Given the description of an element on the screen output the (x, y) to click on. 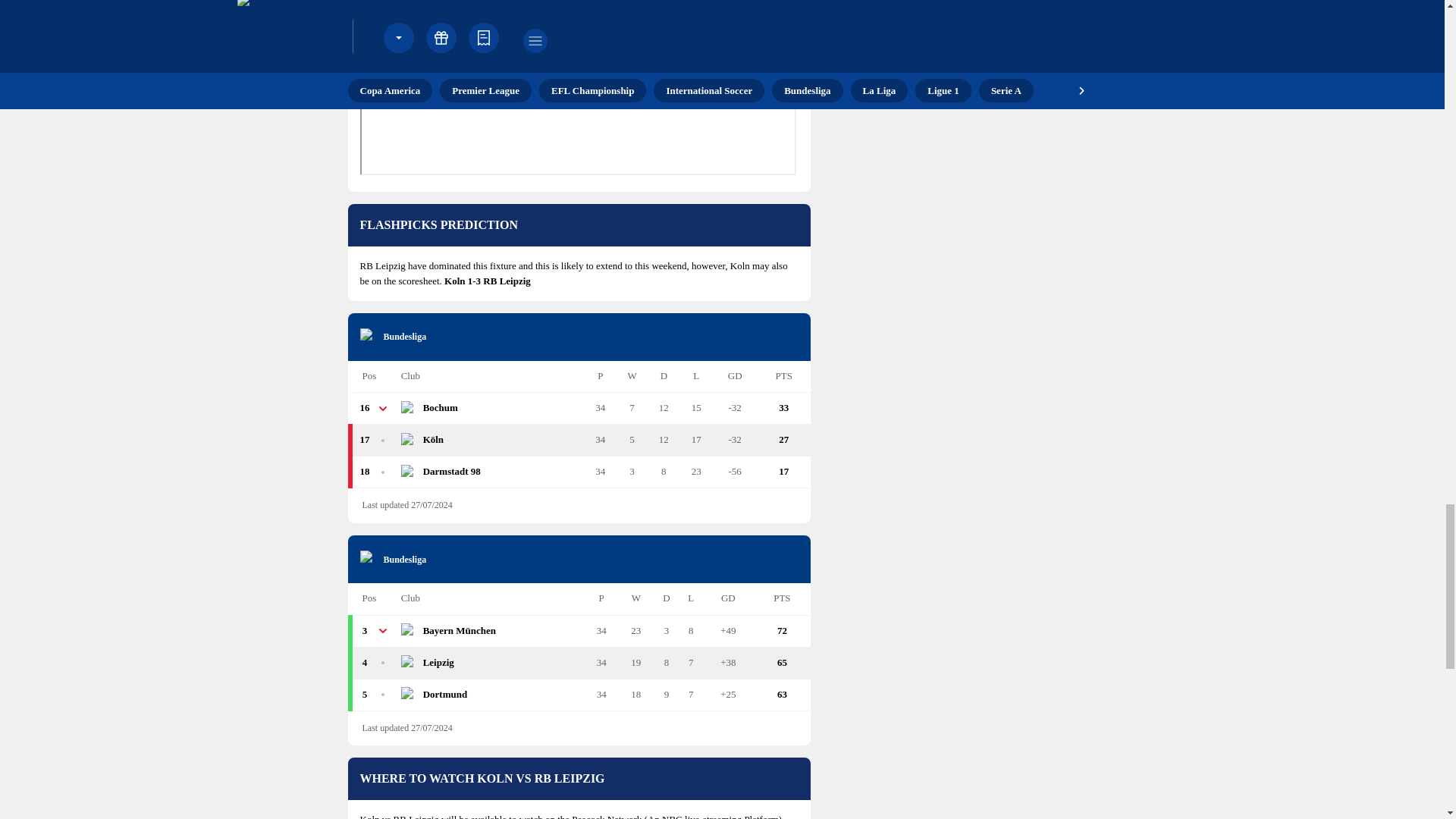
Youtube Video (576, 87)
